Given the description of an element on the screen output the (x, y) to click on. 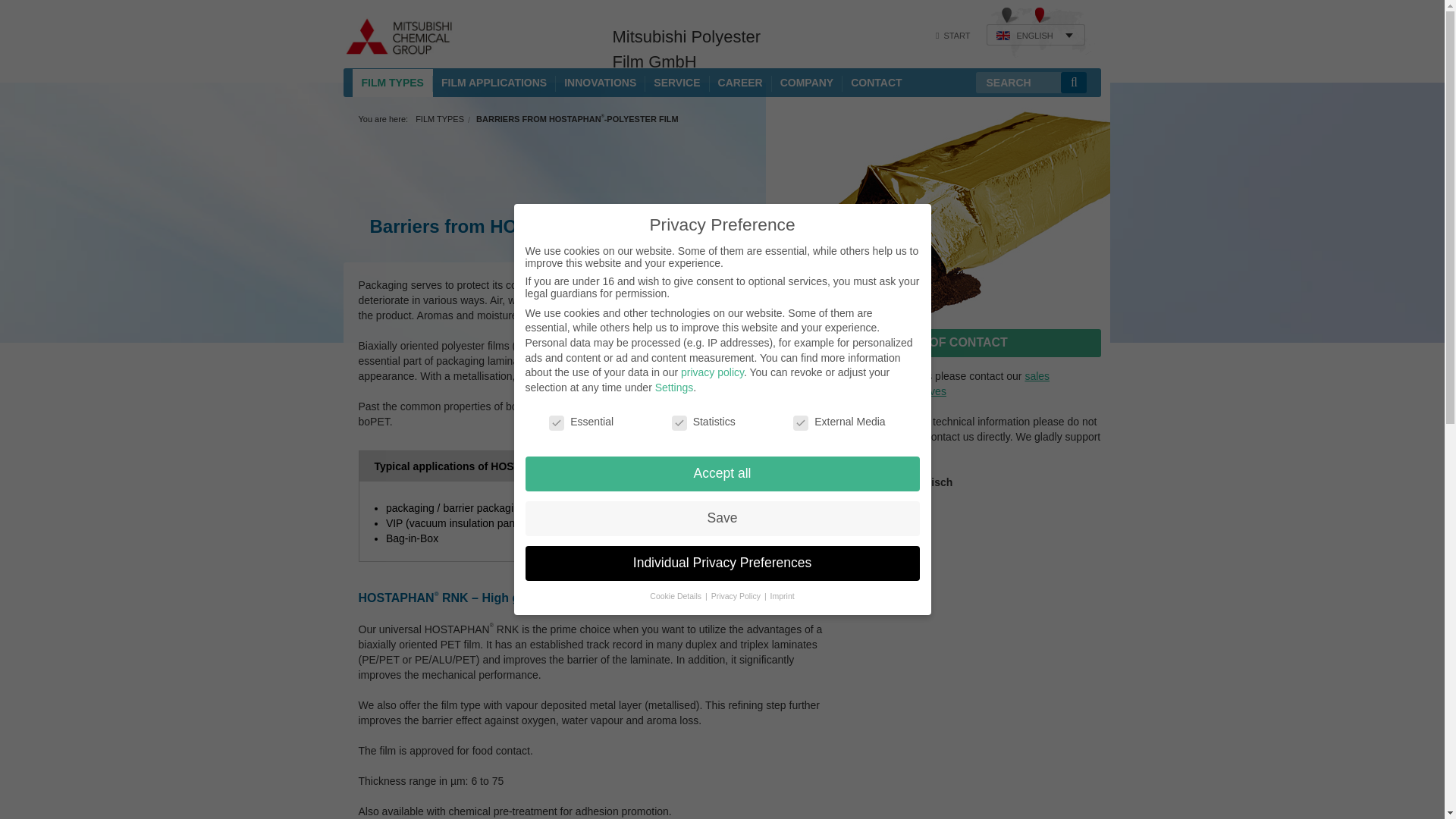
Stabilized films (392, 153)
Polyester films with PCR (392, 176)
Surface modified films (392, 199)
Gehe zu Film Types. (439, 118)
Other films (392, 267)
START (953, 35)
Coloured films (392, 130)
Release films (392, 221)
Barrier films (392, 108)
Lidding films (392, 244)
